Given the description of an element on the screen output the (x, y) to click on. 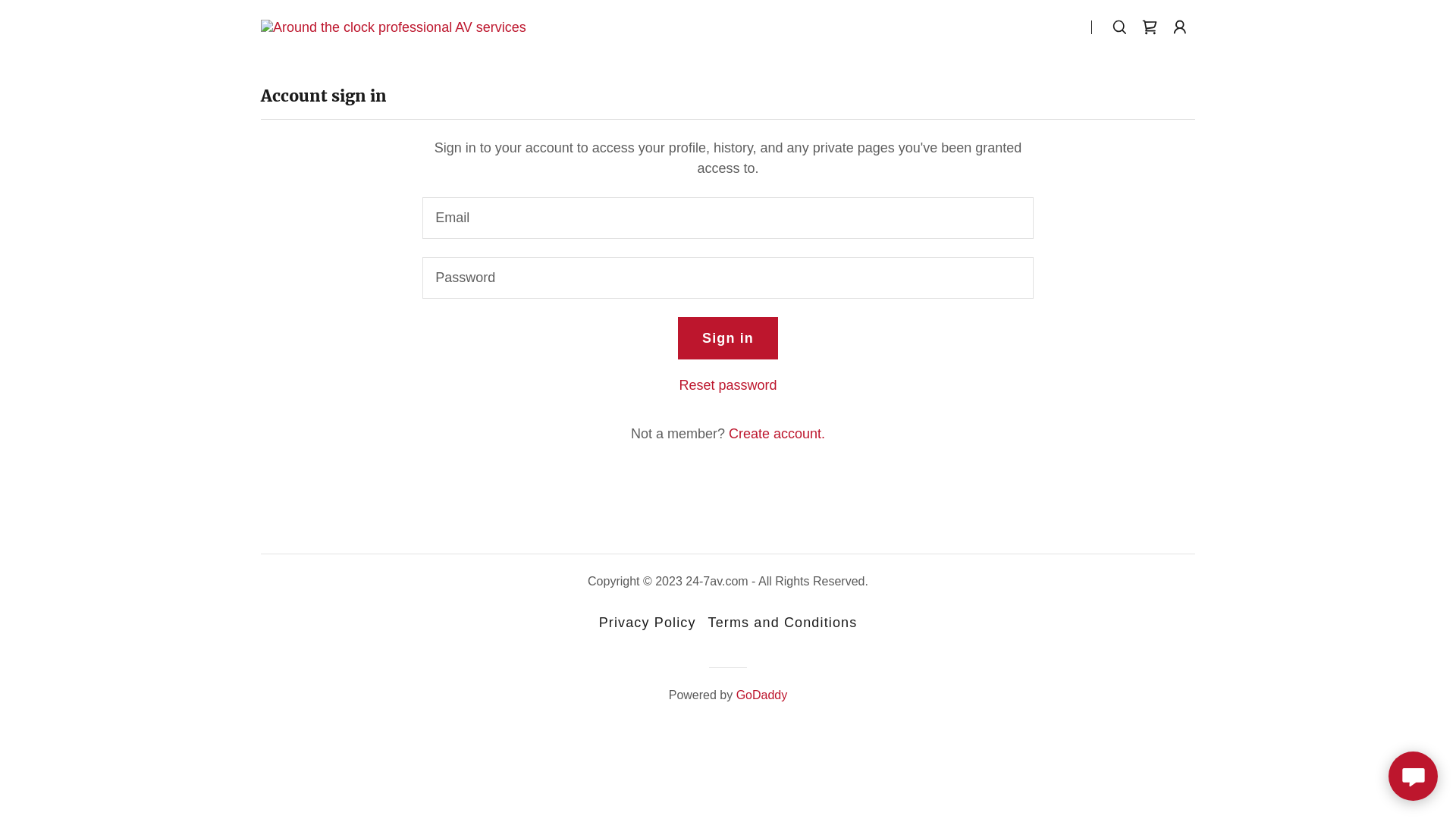
Privacy Policy Element type: text (647, 622)
Terms and Conditions Element type: text (782, 622)
Reset password Element type: text (727, 384)
Create account. Element type: text (776, 433)
Around the clock professional AV services Element type: hover (393, 26)
Sign in Element type: text (727, 337)
GoDaddy Element type: text (761, 694)
